Given the description of an element on the screen output the (x, y) to click on. 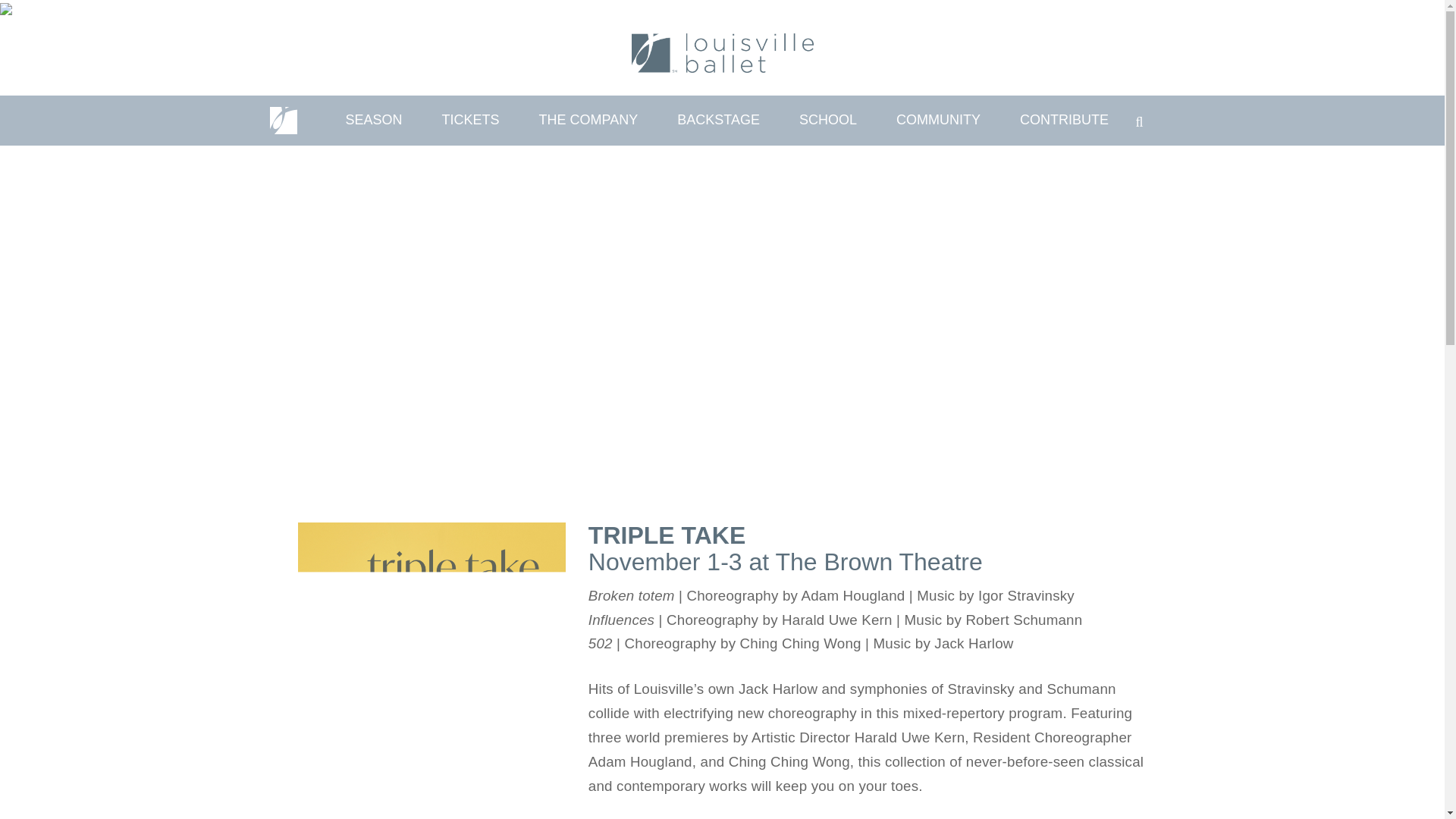
THE COMPANY (588, 120)
TICKETS (470, 120)
COMMUNITY (938, 120)
CONTRIBUTE (1064, 120)
SCHOOL (827, 120)
SEASON (374, 120)
BACKSTAGE (718, 120)
